Given the description of an element on the screen output the (x, y) to click on. 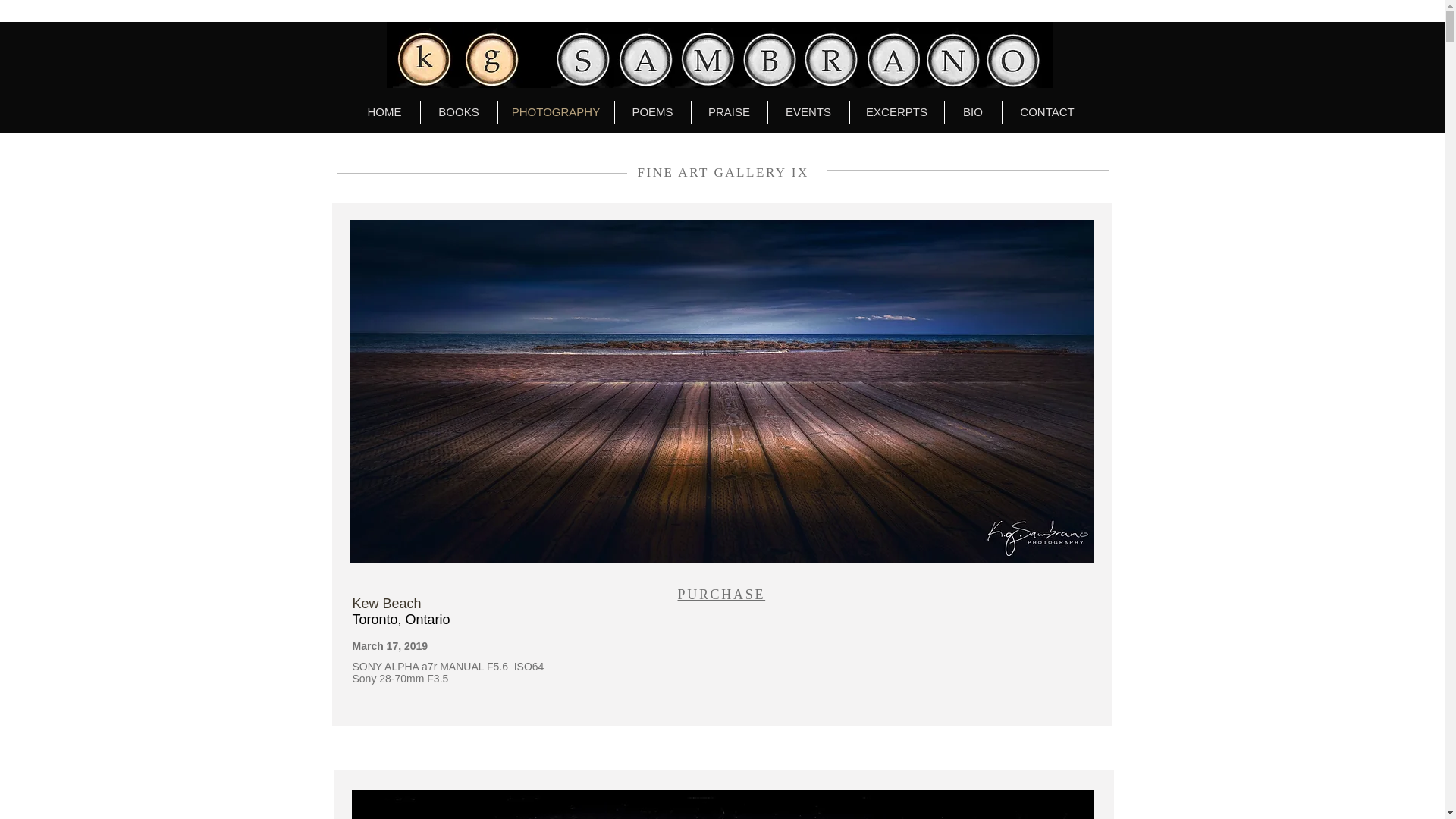
EVENTS (807, 111)
3.jpg (719, 54)
HOME (384, 111)
POEMS (652, 111)
EXCERPTS (895, 111)
PURCHASE (721, 594)
PRAISE (729, 111)
BIO (972, 111)
PHOTOGRAPHY (554, 111)
